Given the description of an element on the screen output the (x, y) to click on. 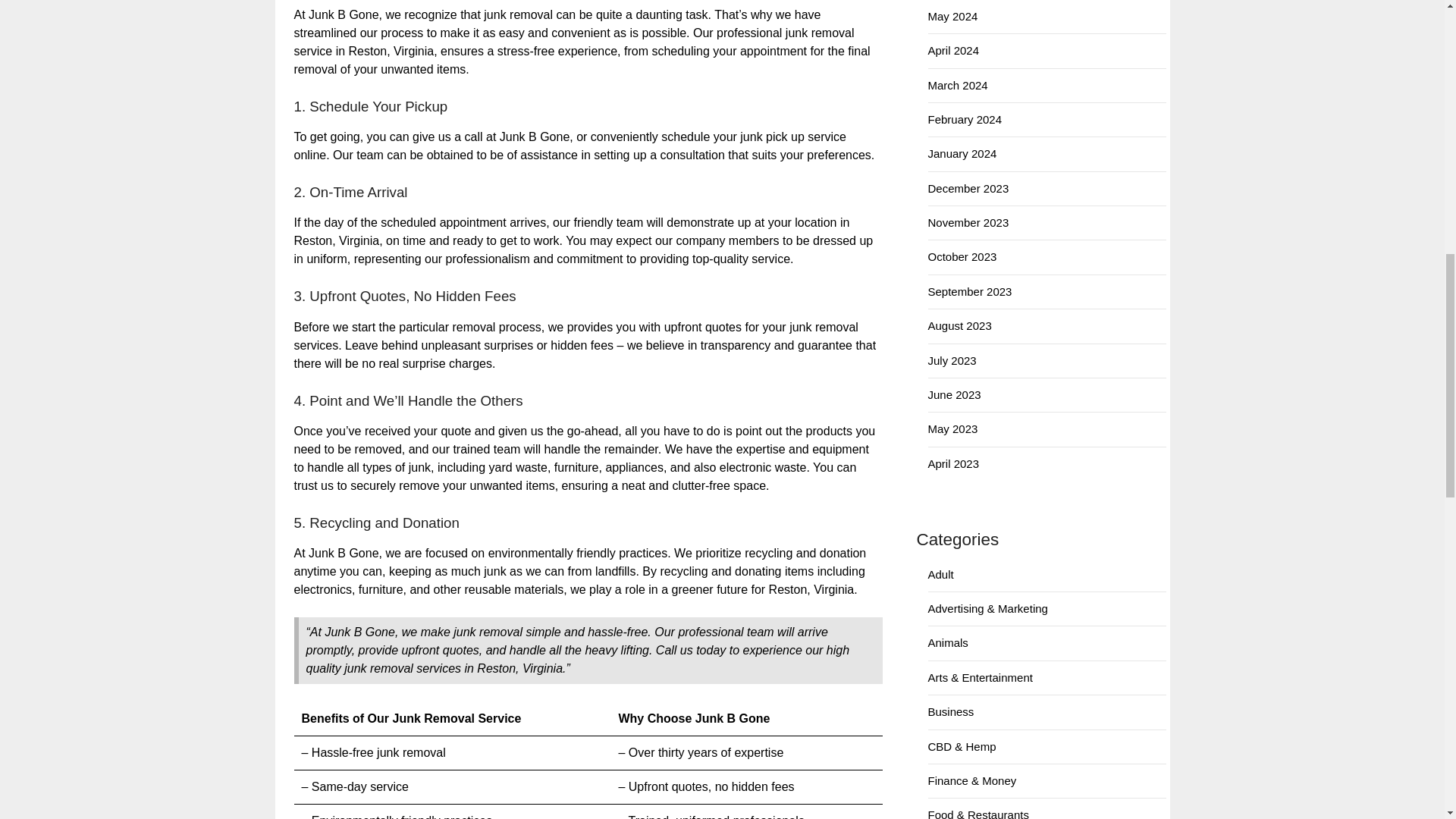
March 2024 (958, 84)
February 2024 (965, 119)
Adult (940, 574)
May 2024 (953, 15)
April 2023 (953, 463)
April 2024 (953, 50)
November 2023 (968, 222)
August 2023 (959, 325)
June 2023 (954, 394)
December 2023 (968, 187)
May 2023 (953, 428)
Animals (948, 642)
January 2024 (962, 153)
Business (951, 711)
July 2023 (952, 359)
